Given the description of an element on the screen output the (x, y) to click on. 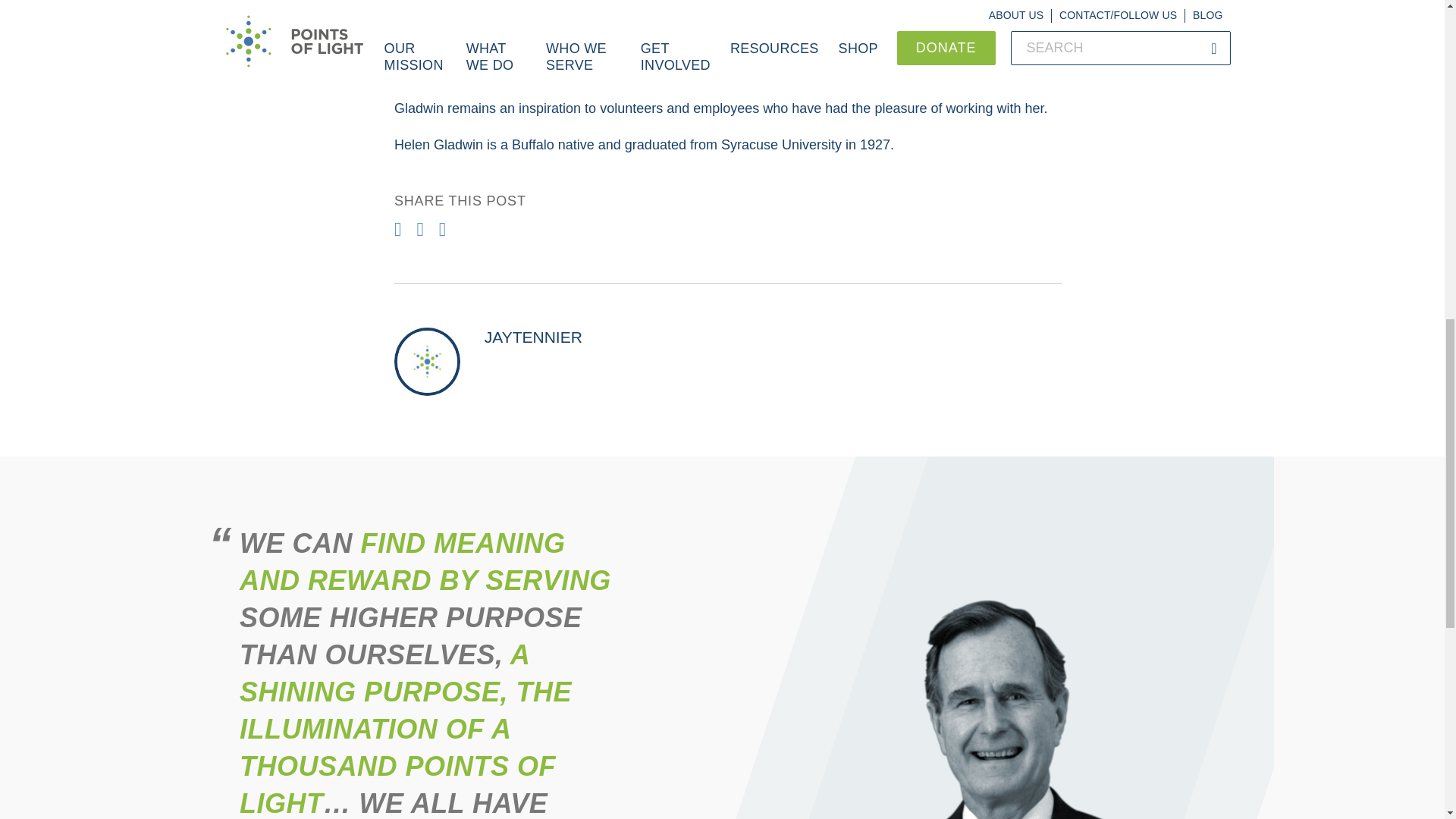
Click to share this post on Twitter (421, 228)
